Given the description of an element on the screen output the (x, y) to click on. 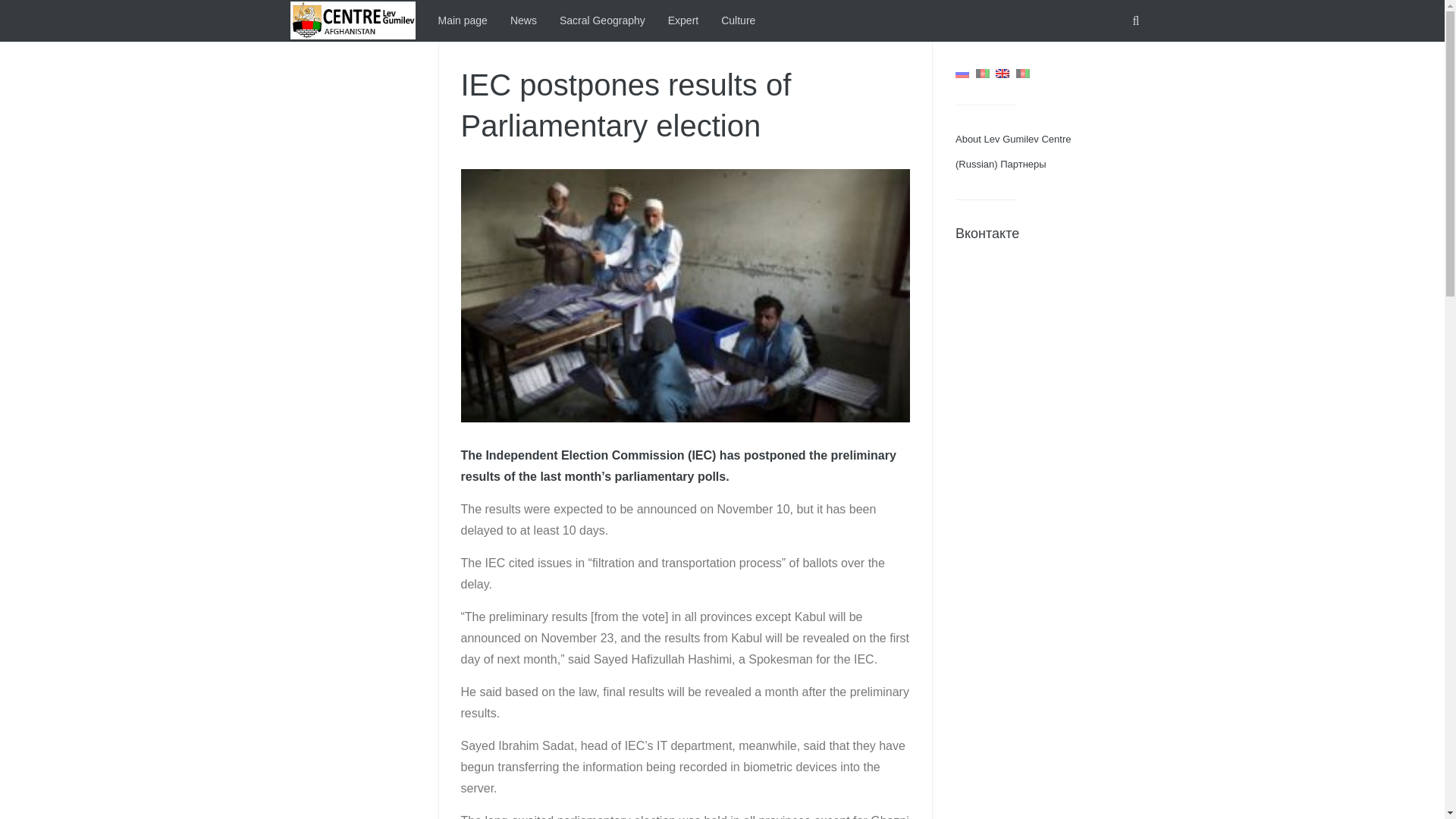
Sacral Geography (602, 20)
Main page (462, 20)
Sacral Geography (602, 20)
Main page (462, 20)
About Lev Gumilev Centre (1012, 138)
